Given the description of an element on the screen output the (x, y) to click on. 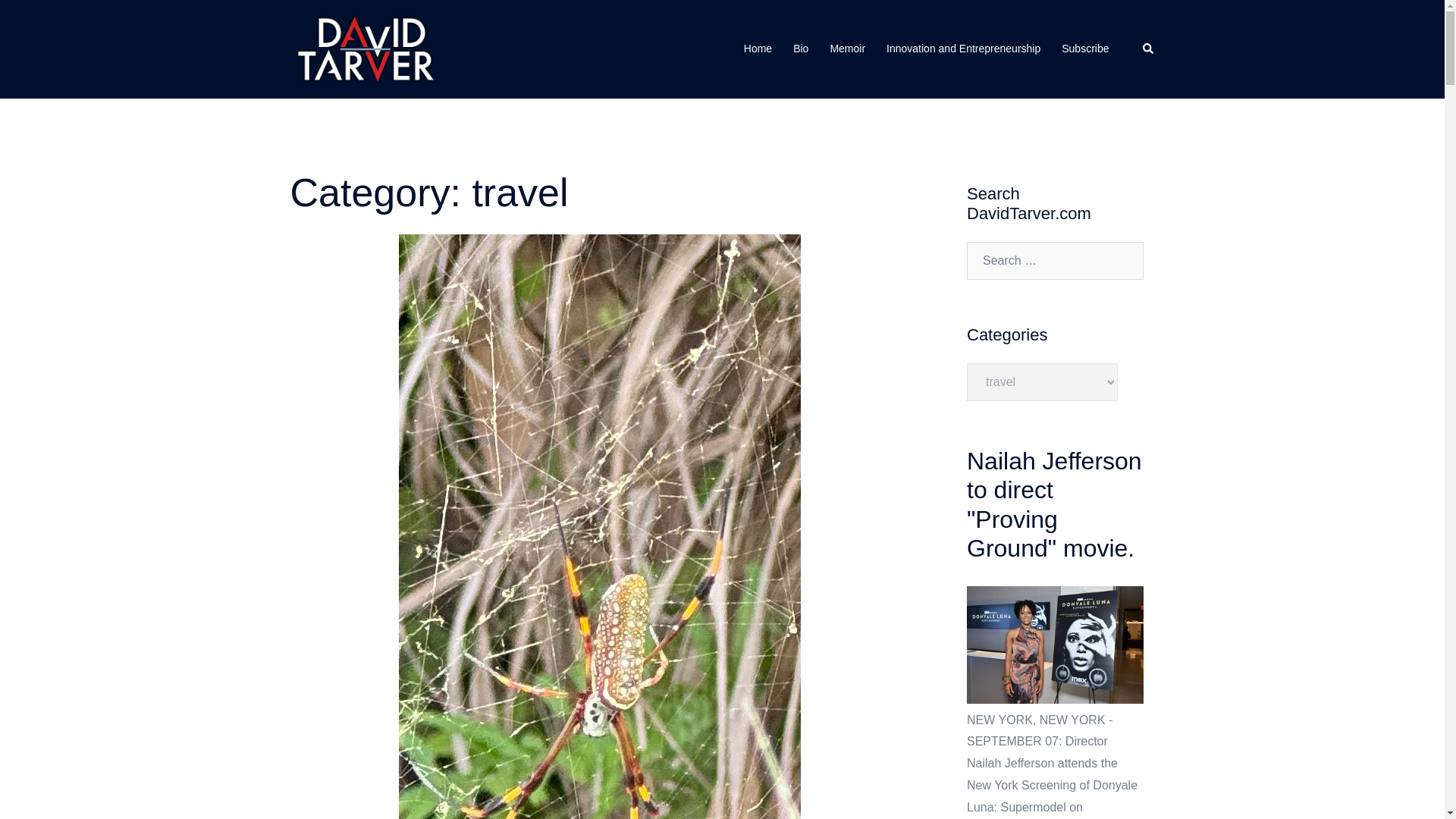
Subscribe (1084, 48)
Memoir (846, 48)
Was it the Spiders? (599, 668)
DavidTarver.com (365, 47)
Search (1147, 49)
Home (757, 48)
Innovation and Entrepreneurship (963, 48)
